Given the description of an element on the screen output the (x, y) to click on. 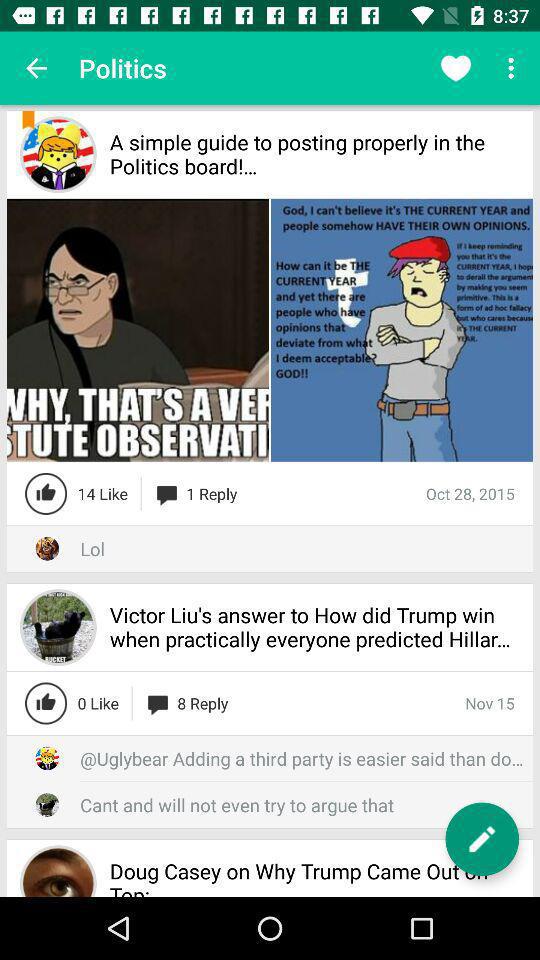
turn on the app next to politics icon (36, 68)
